Given the description of an element on the screen output the (x, y) to click on. 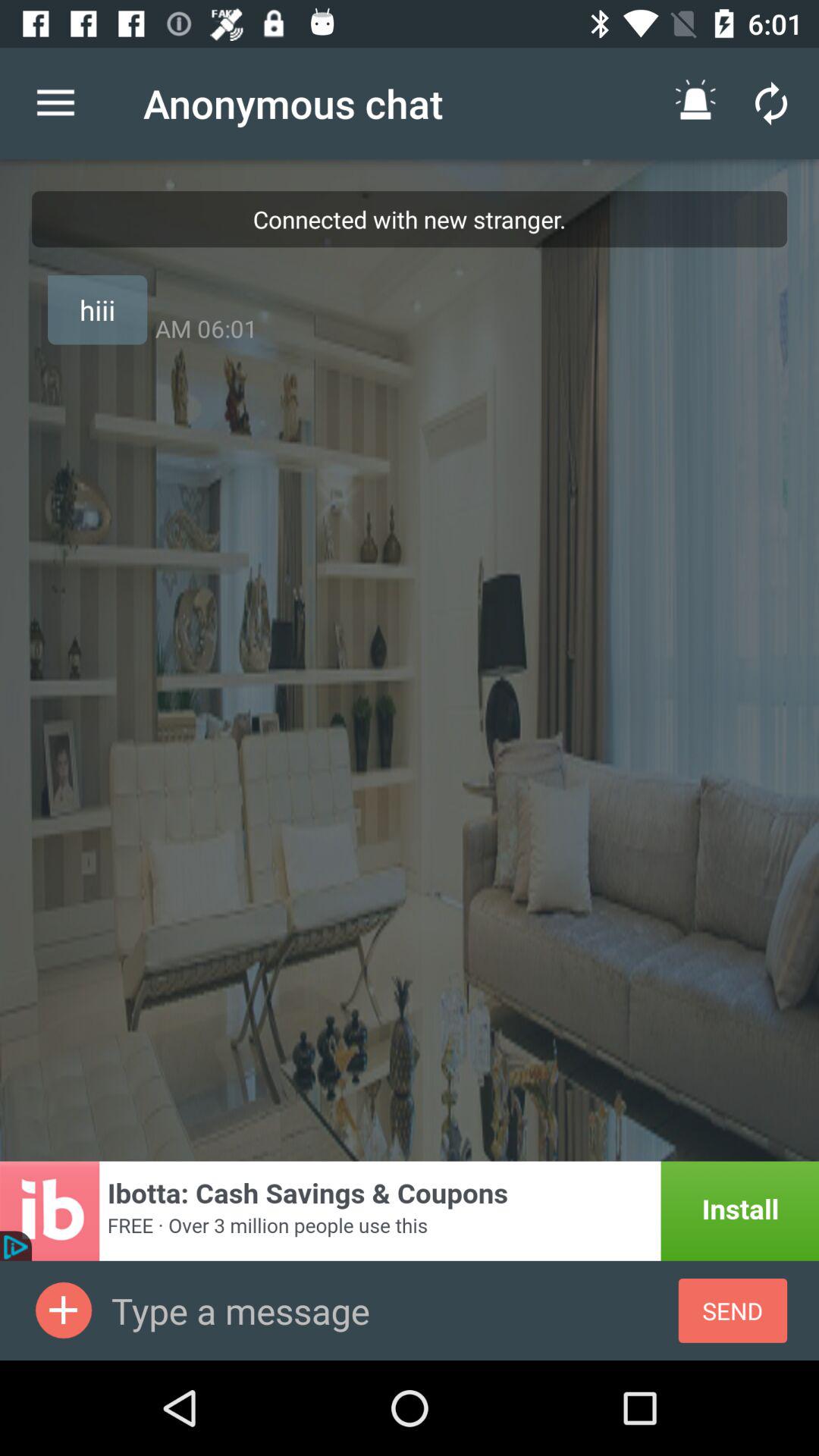
type a message (394, 1310)
